Given the description of an element on the screen output the (x, y) to click on. 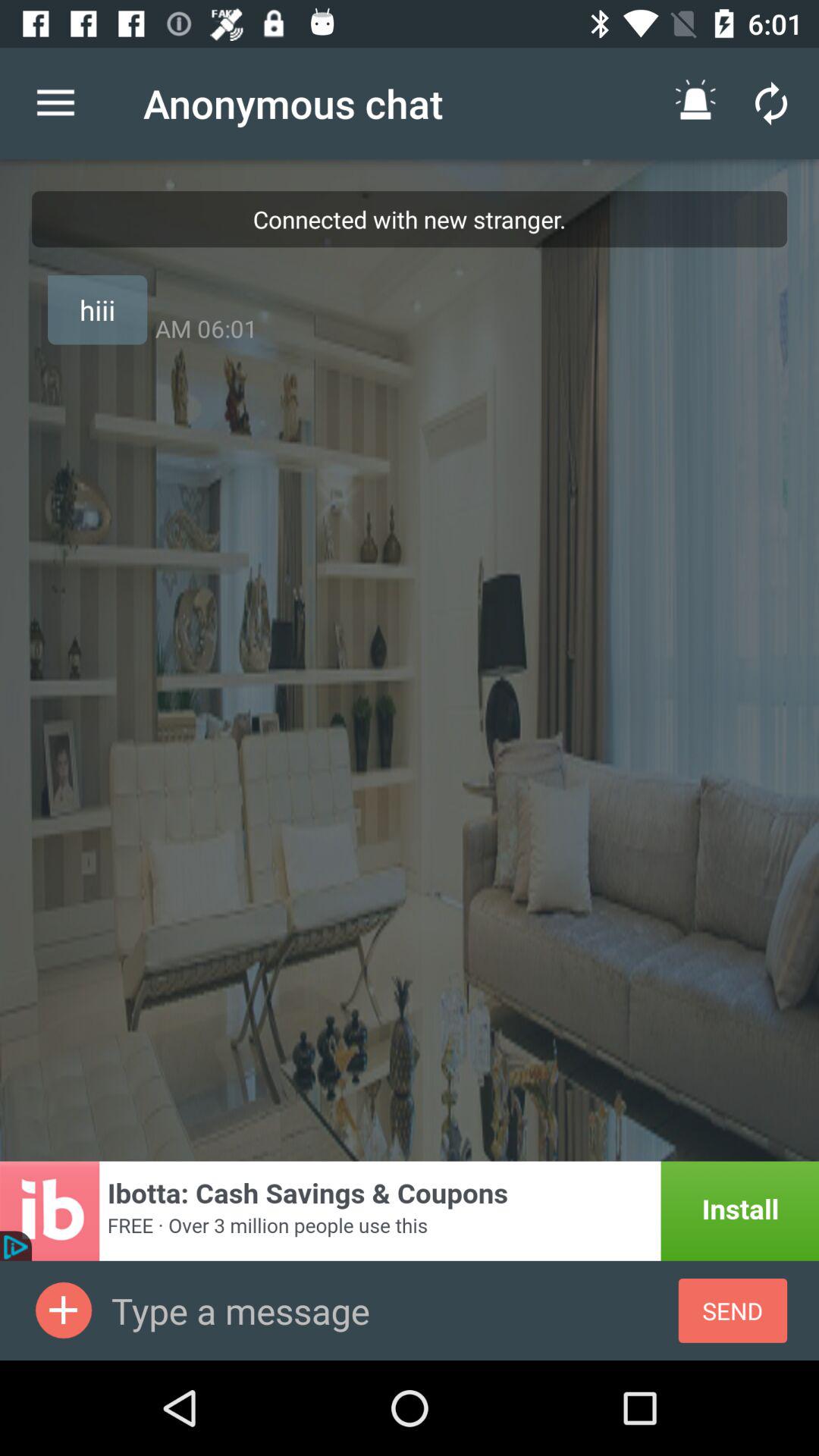
type a message (394, 1310)
